Given the description of an element on the screen output the (x, y) to click on. 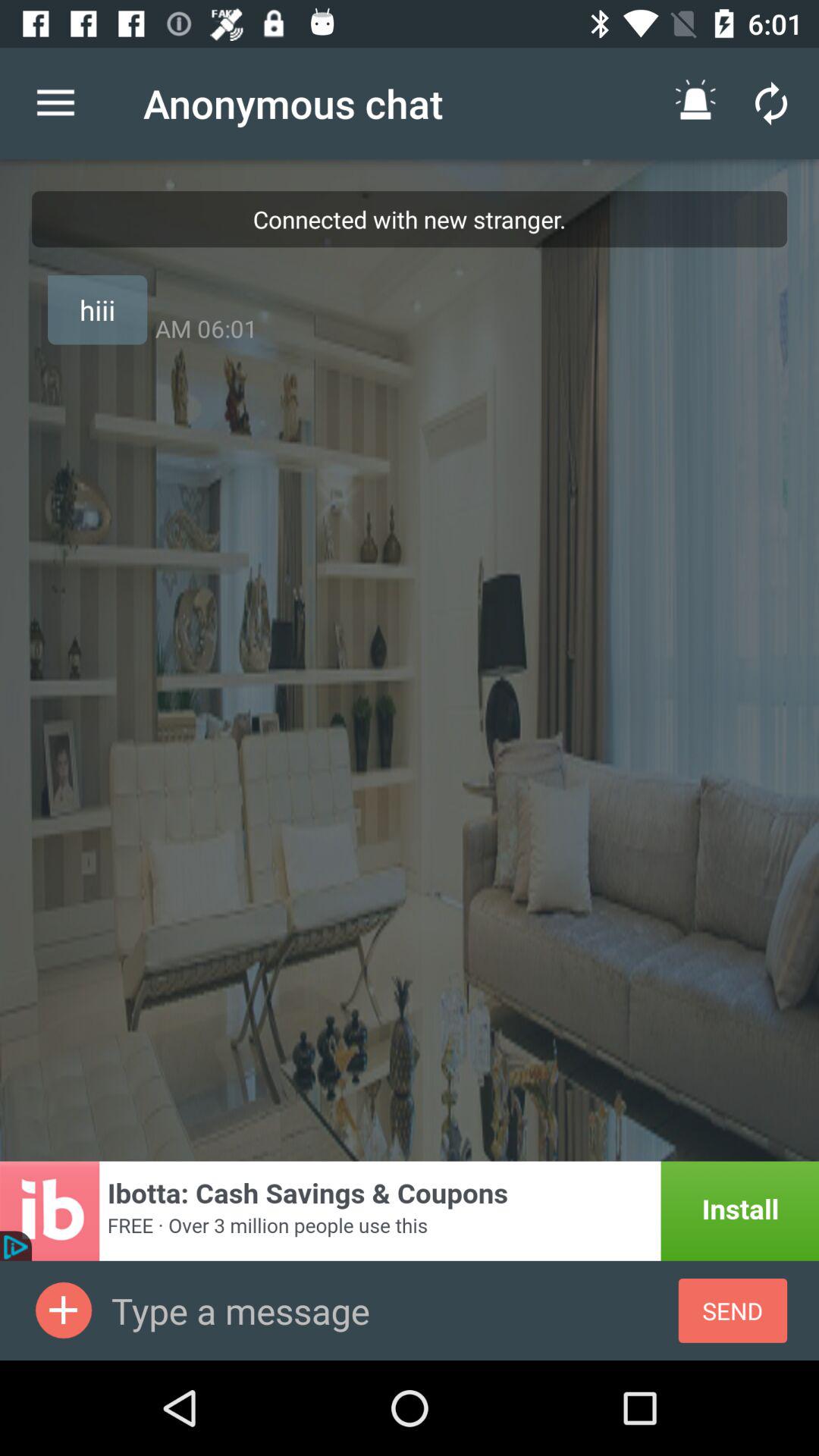
type a message (394, 1310)
